Given the description of an element on the screen output the (x, y) to click on. 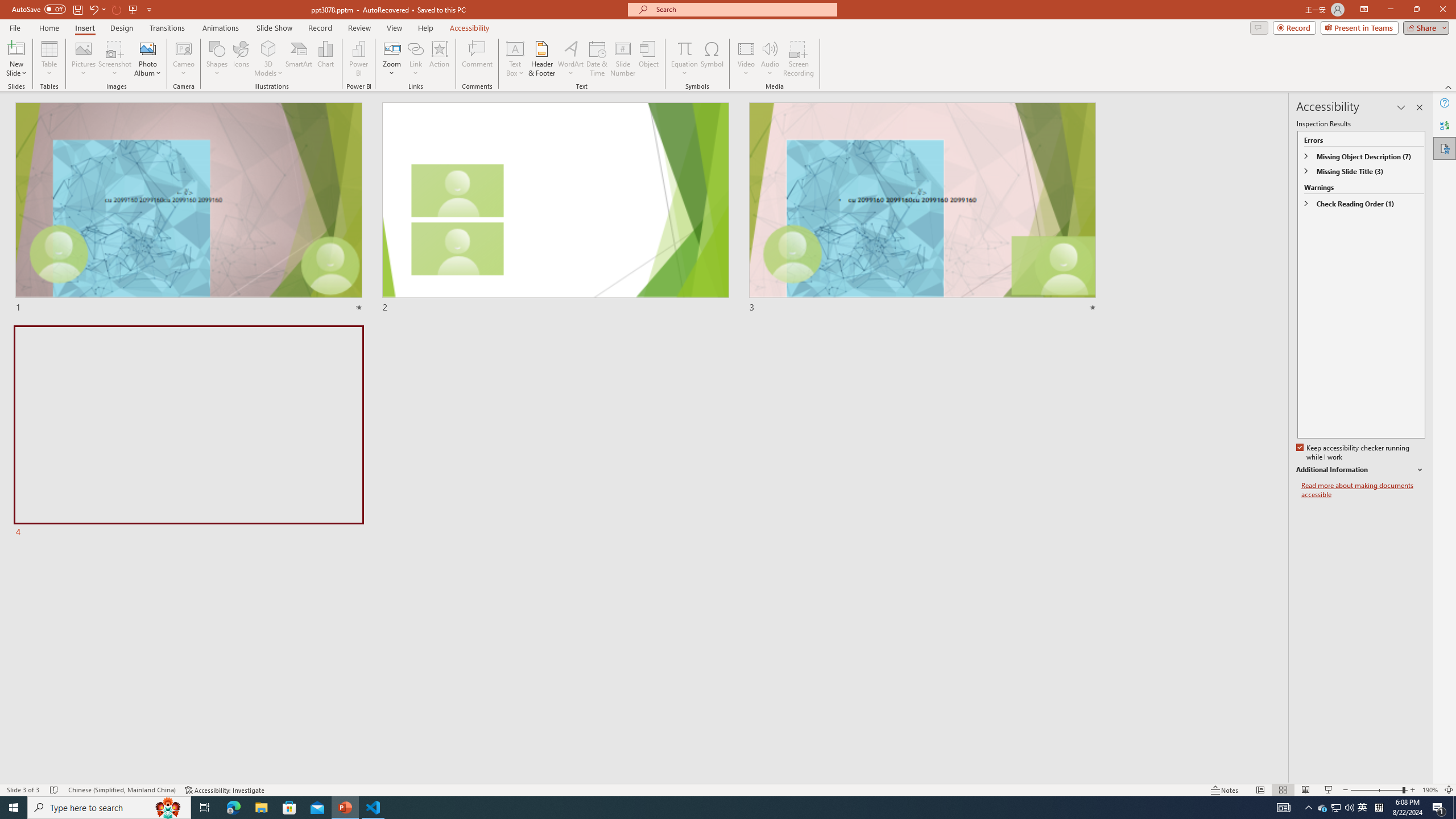
Slide Number (622, 58)
New Photo Album... (147, 48)
3D Models (268, 58)
